Given the description of an element on the screen output the (x, y) to click on. 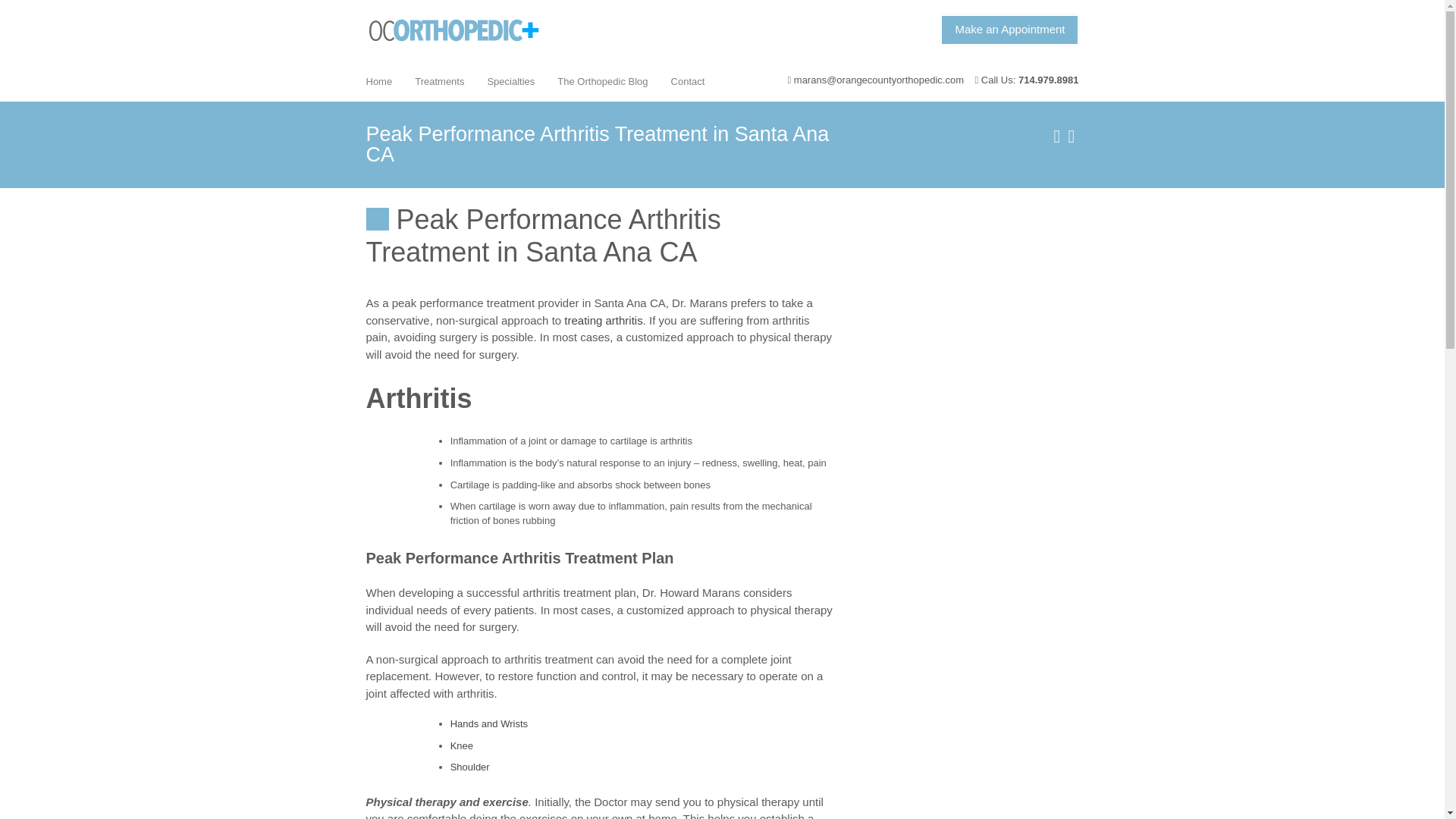
Contact (687, 80)
Treatments (439, 80)
Specialties (511, 80)
The Orthopedic Blog (602, 80)
Make an Appointment (1009, 30)
Home (379, 80)
